Given the description of an element on the screen output the (x, y) to click on. 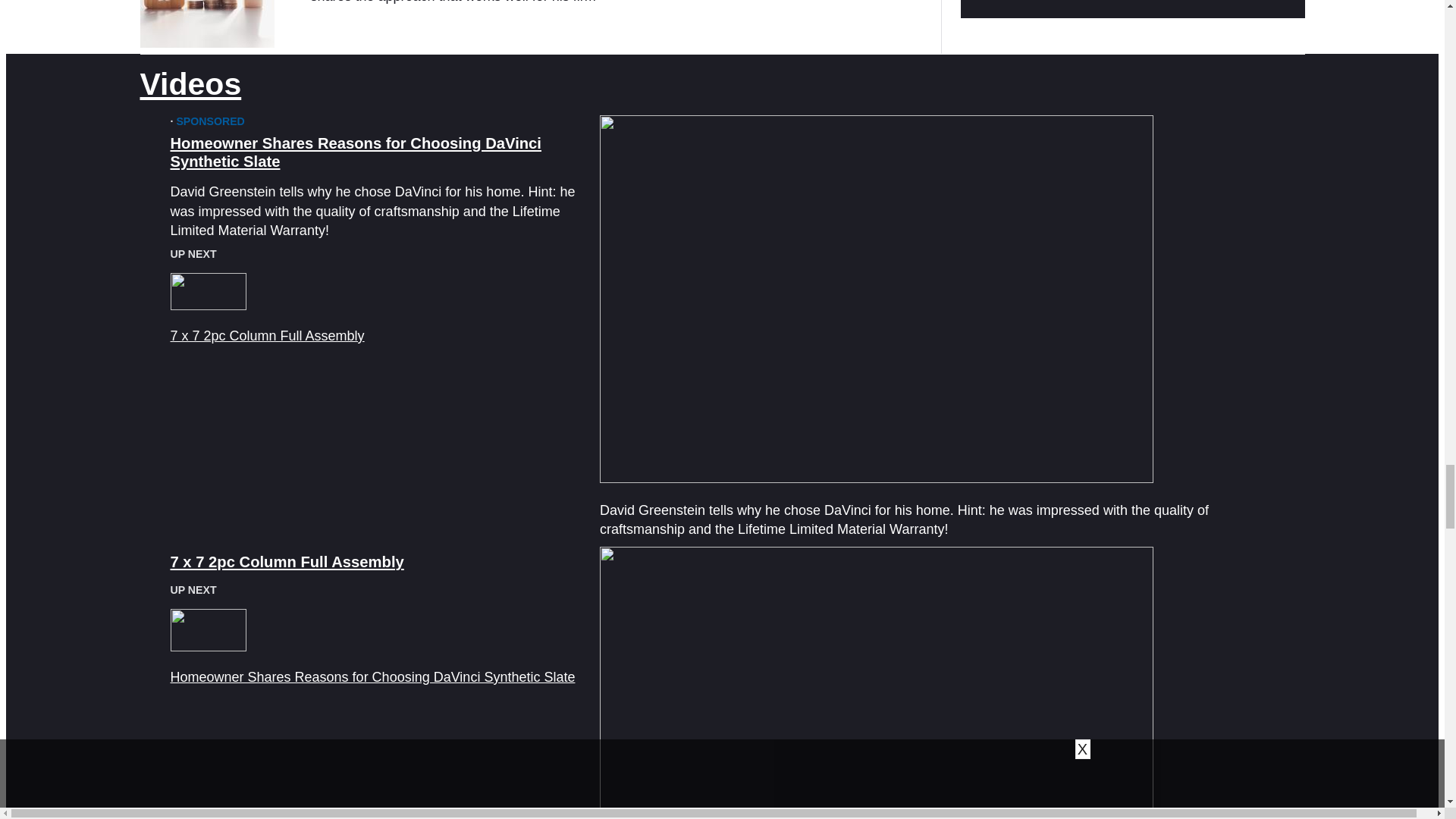
Photo Credit: Adobe  (206, 23)
